Given the description of an element on the screen output the (x, y) to click on. 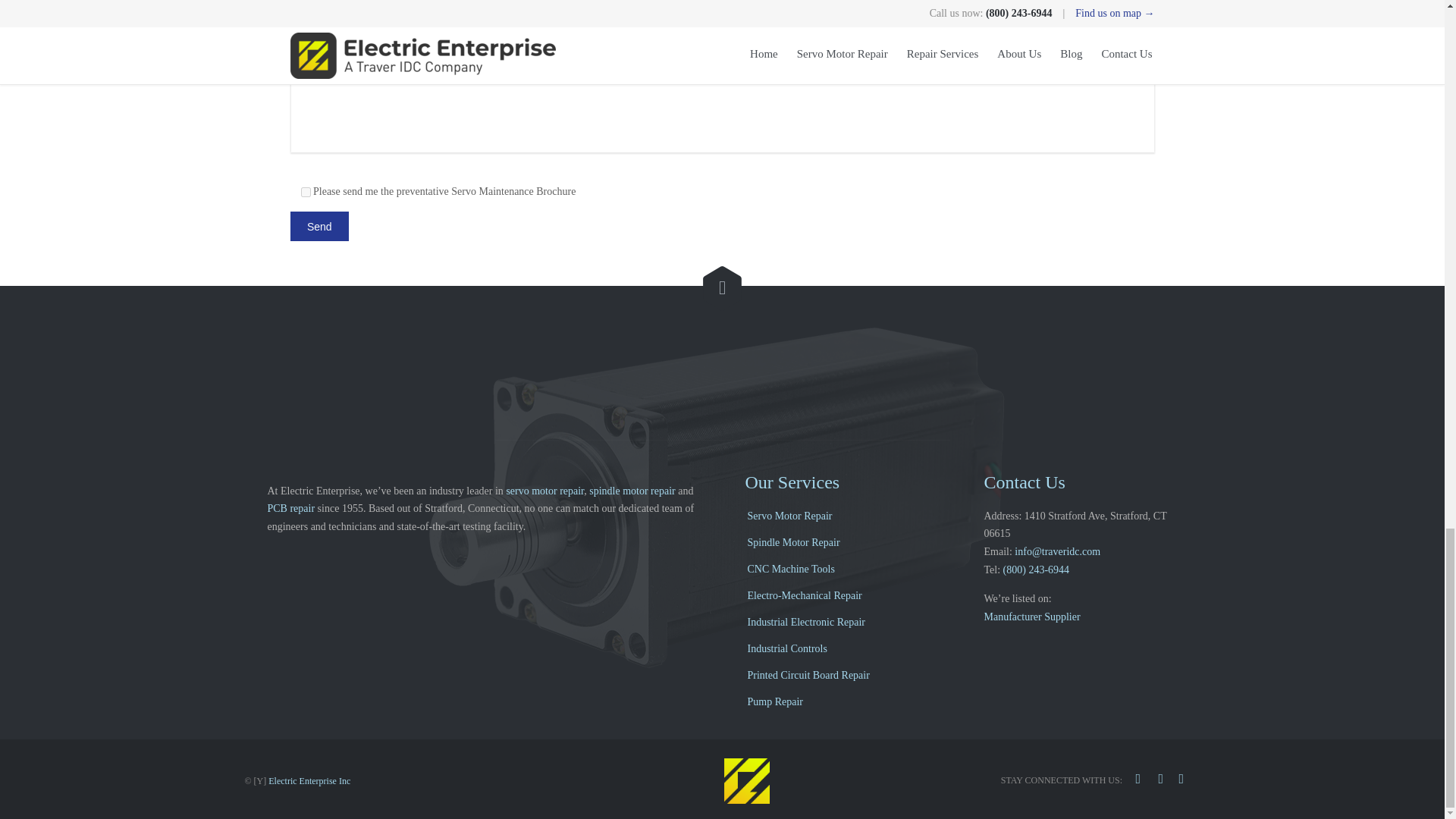
Please send me the preventative Servo Maintenance Brochure (304, 192)
Send (318, 225)
servo motor repair (544, 490)
Electro-Mechanical Repair (840, 596)
spindle motor repair (632, 490)
CNC Machine Tools (840, 570)
Send (318, 225)
Servo Motor Repair (840, 517)
PCB repair (290, 508)
Spindle Motor Repair (840, 543)
